Given the description of an element on the screen output the (x, y) to click on. 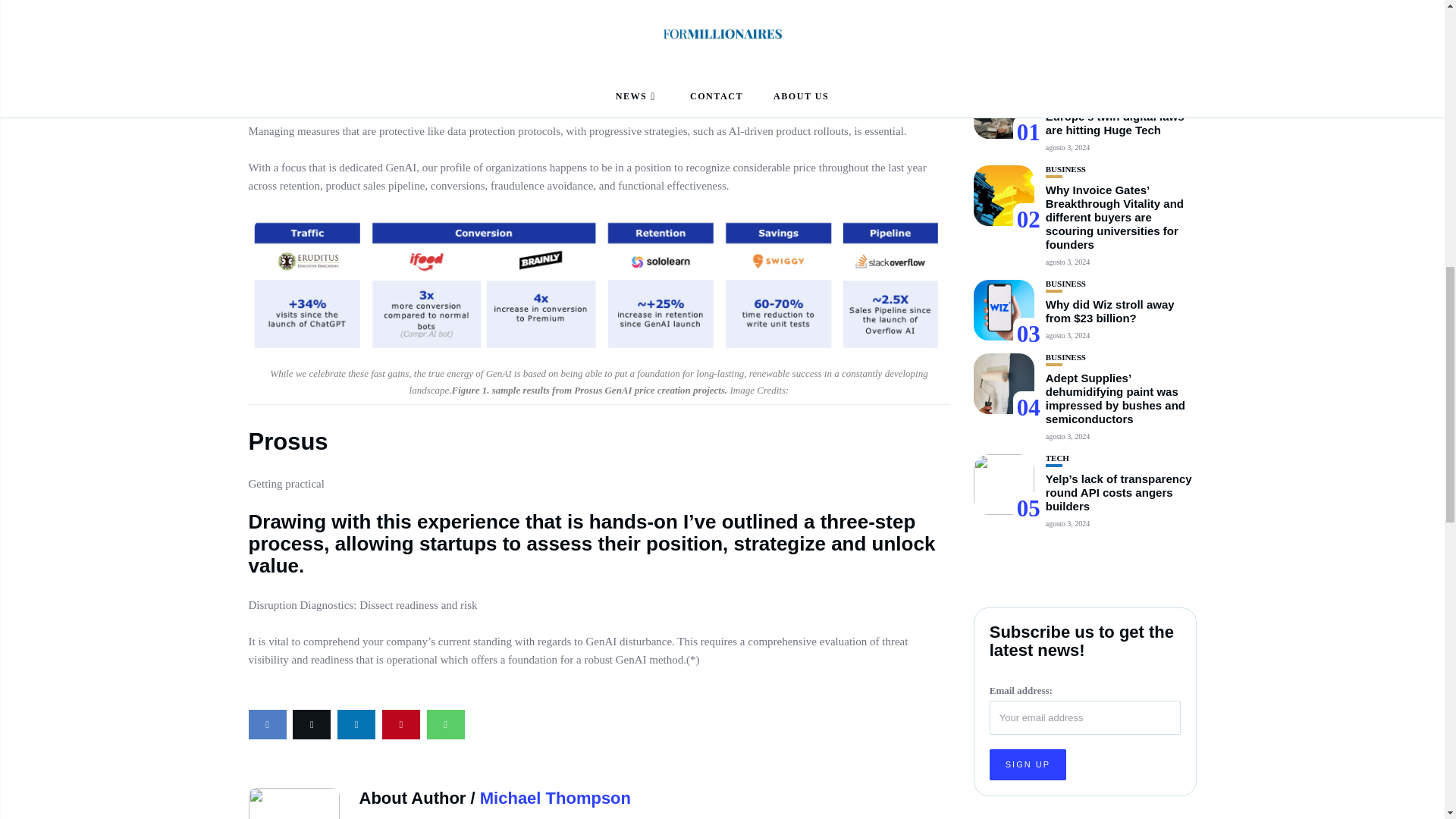
Entradas de Michael Thompson (555, 797)
Michael Thompson (555, 797)
Sign up (1027, 400)
facebook (267, 724)
